Given the description of an element on the screen output the (x, y) to click on. 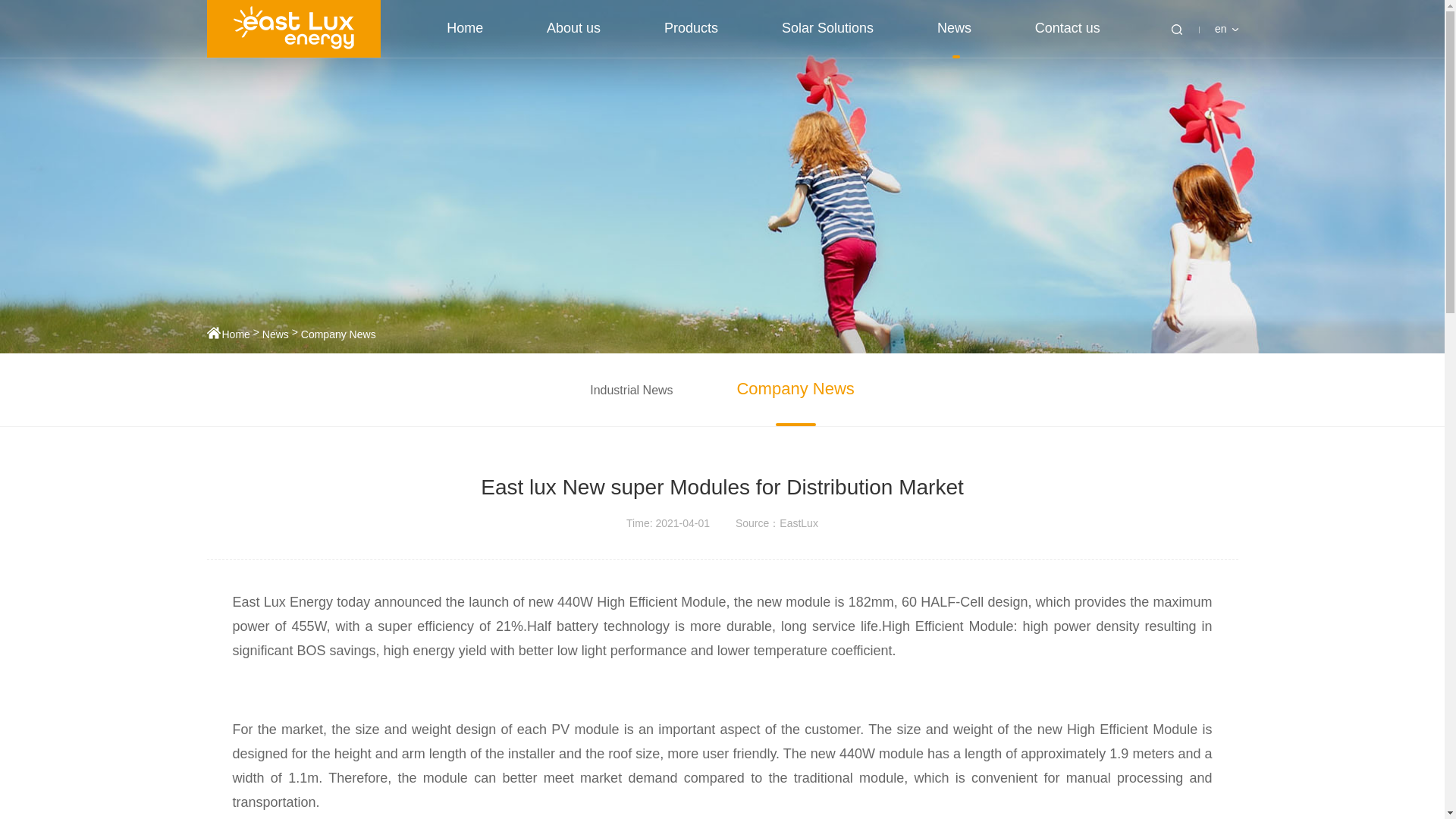
Products (690, 28)
Contact us (1067, 28)
Industrial News (630, 389)
Company News (794, 388)
About us (573, 28)
Solar Solutions (827, 28)
Company News (338, 333)
